Given the description of an element on the screen output the (x, y) to click on. 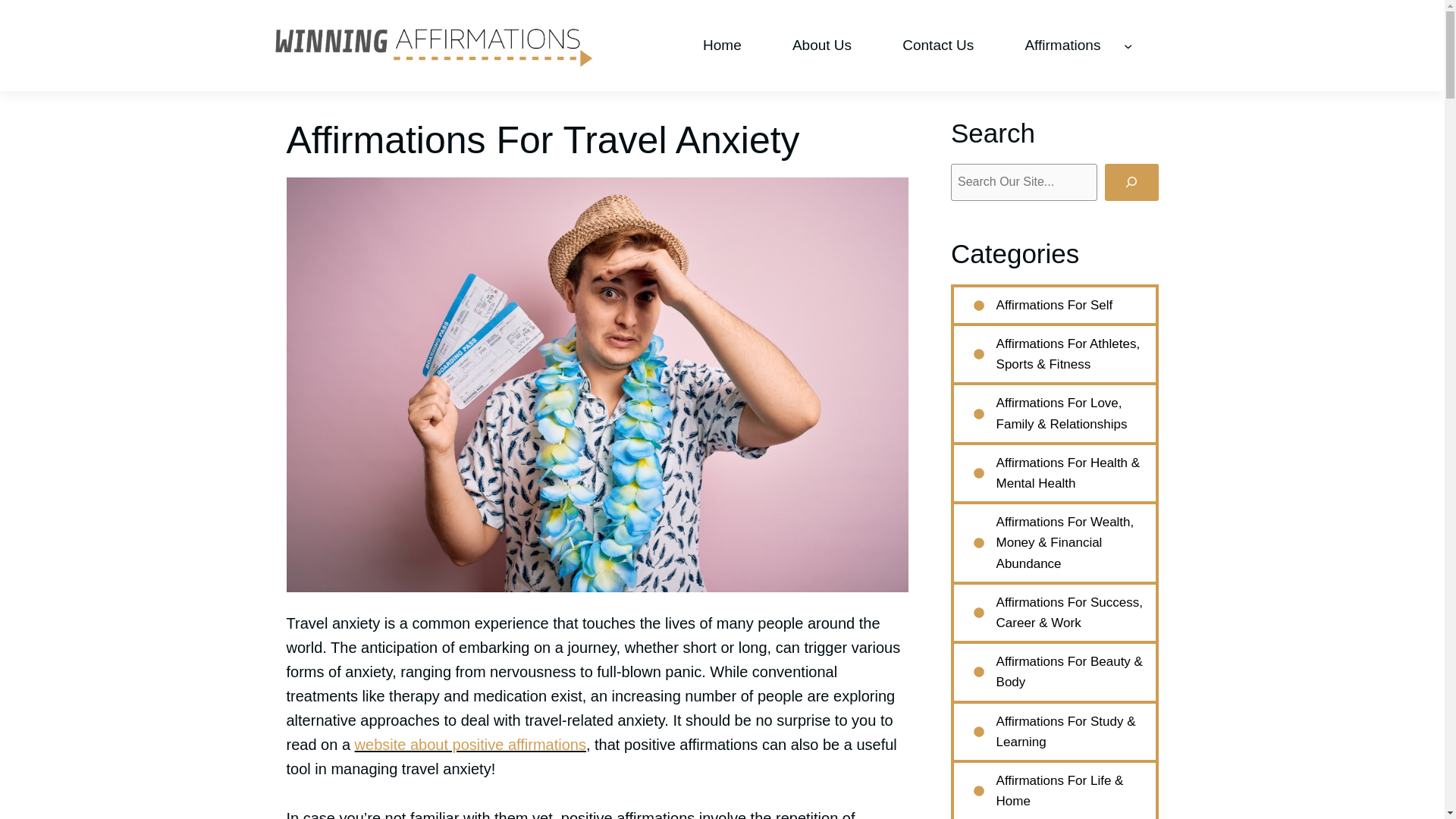
website about positive affirmations (470, 744)
Home (721, 45)
Affirmations For Self (1054, 305)
Affirmations (1062, 45)
About Us (821, 45)
Contact Us (937, 45)
